Given the description of an element on the screen output the (x, y) to click on. 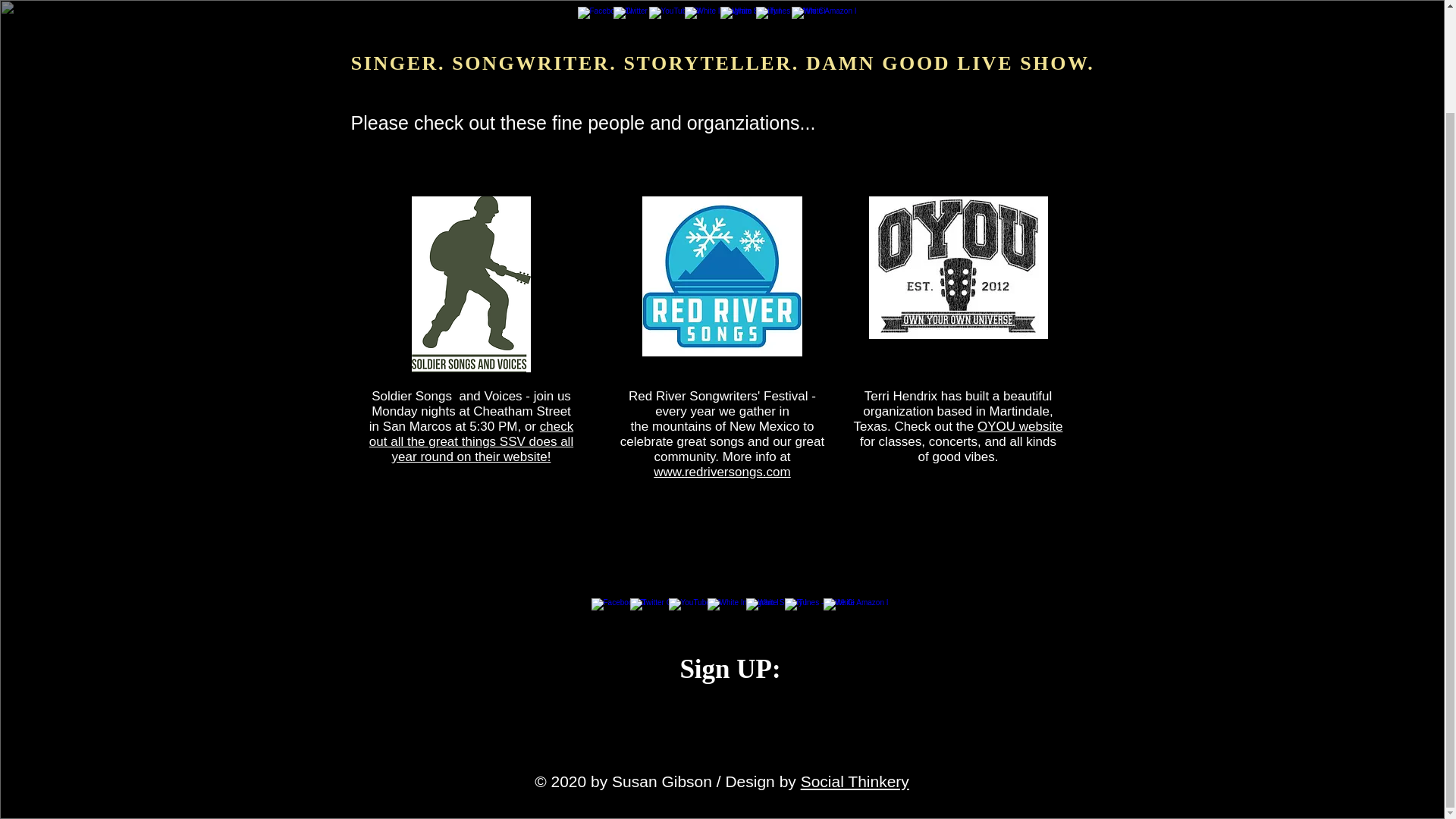
OYOU website (1019, 426)
www.redriversongs.com (721, 472)
Social Thinkery (854, 781)
